Given the description of an element on the screen output the (x, y) to click on. 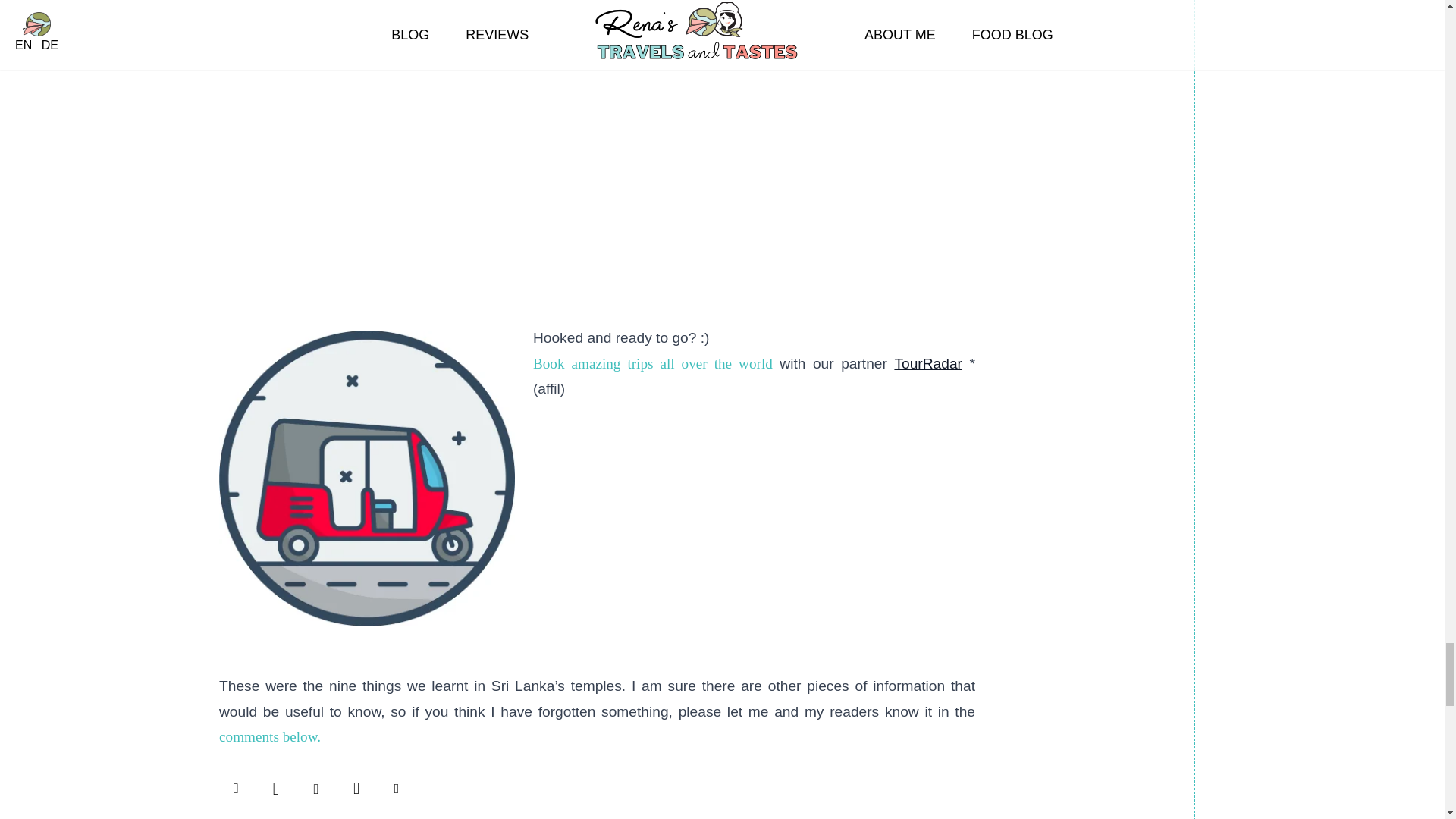
Share on Whatsapp (355, 785)
TourRadar (927, 363)
Share on Facebook (235, 785)
Pin it on Pinterest (315, 785)
Share on Twitter (274, 785)
Send by email (395, 785)
